Given the description of an element on the screen output the (x, y) to click on. 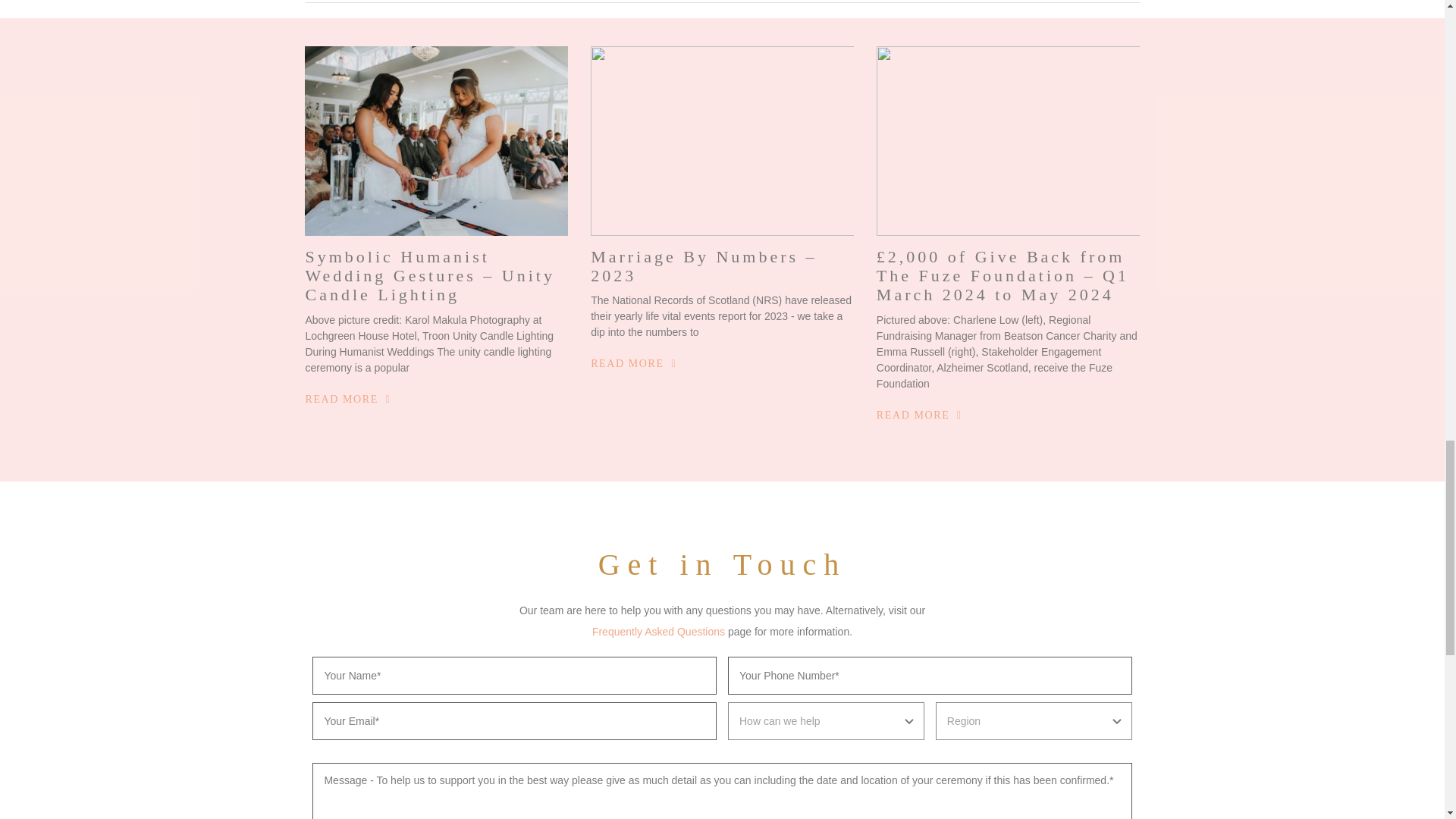
READ MORE (919, 415)
Frequently Asked Questions (658, 631)
READ MORE (634, 363)
READ MORE (347, 398)
